Given the description of an element on the screen output the (x, y) to click on. 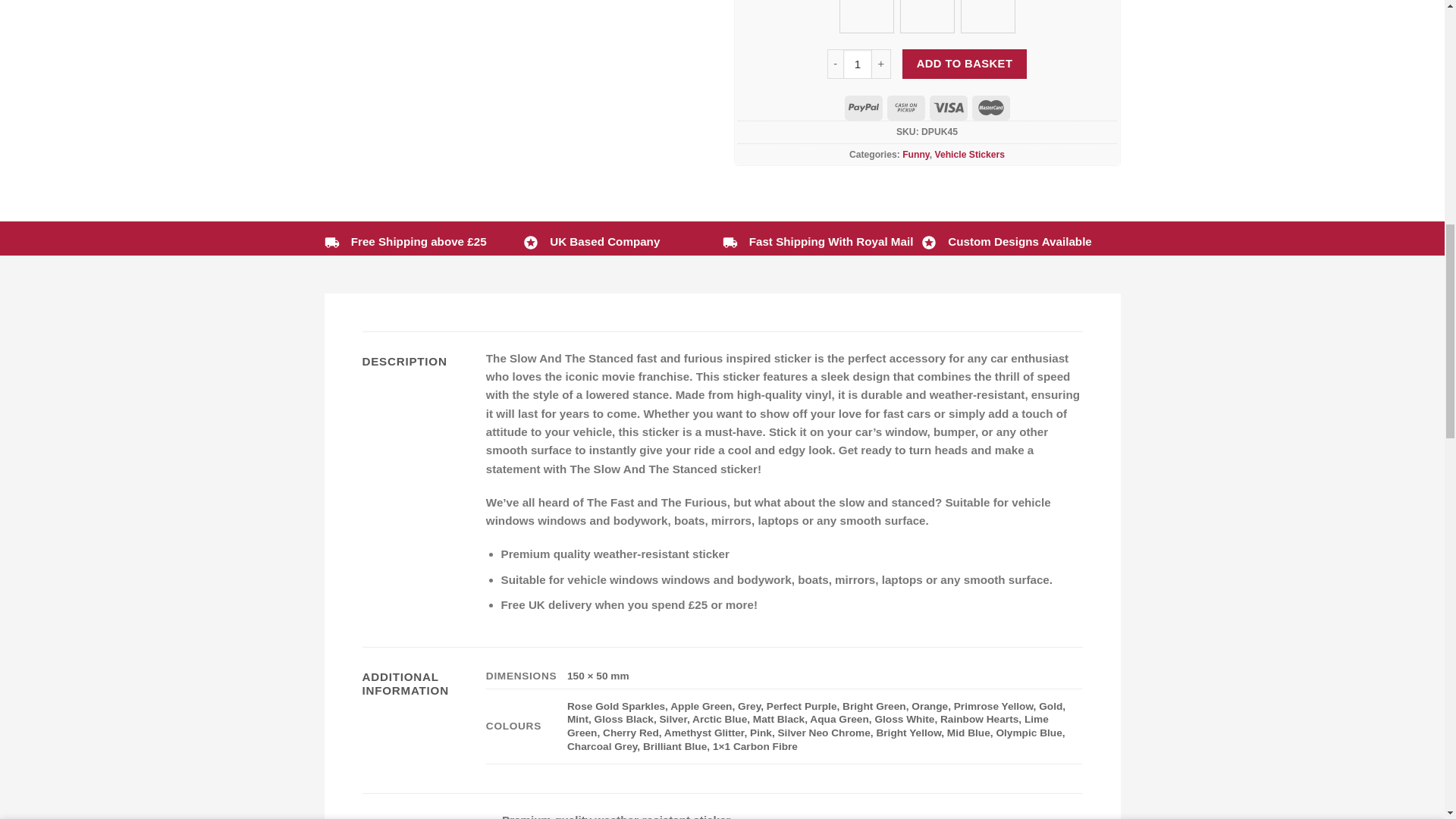
1 (857, 63)
